Given the description of an element on the screen output the (x, y) to click on. 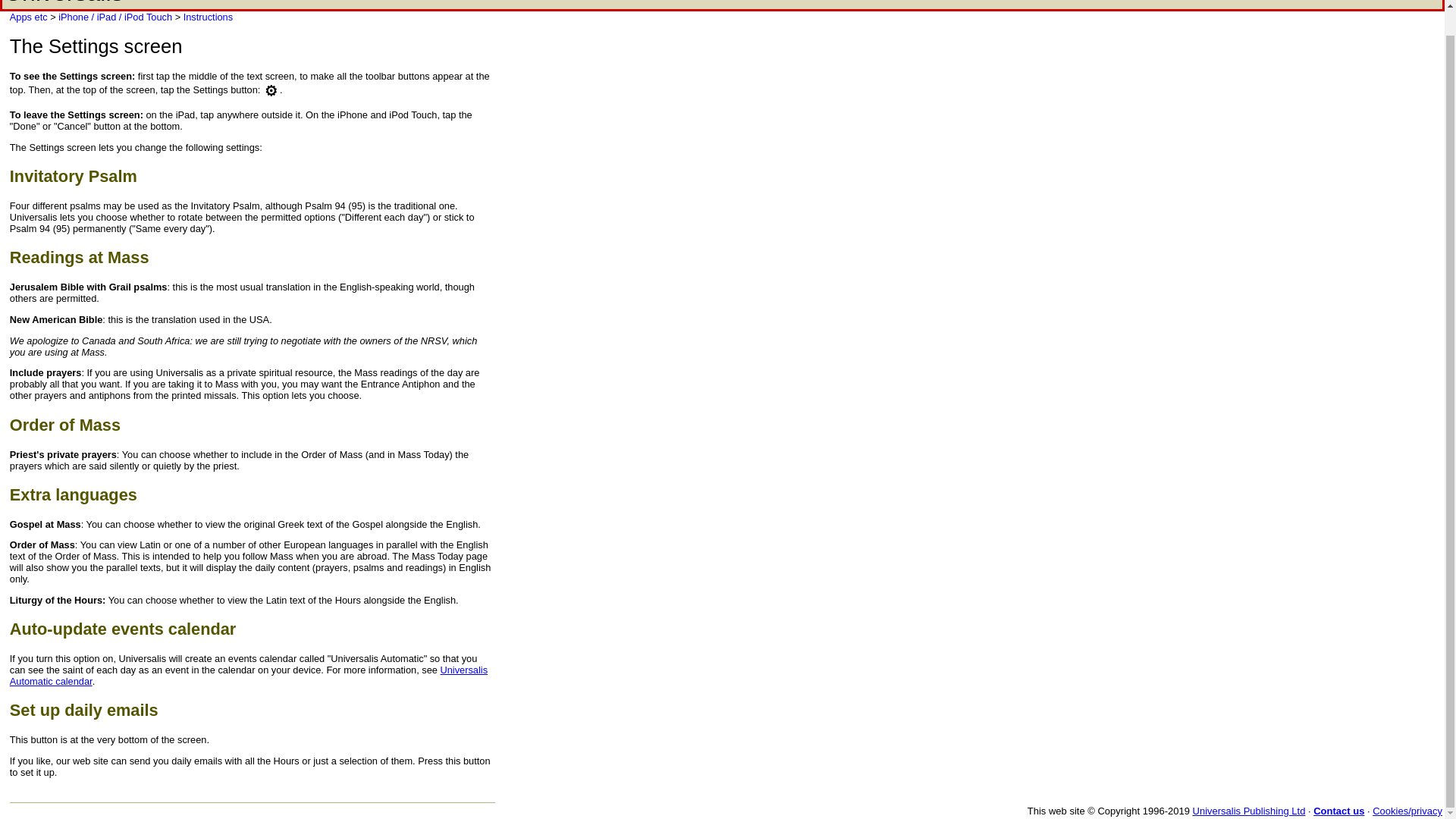
Apps etc (29, 16)
Contact us (1338, 810)
Instructions (207, 16)
Universalis Publishing Ltd (1249, 810)
Universalis Automatic calendar (248, 675)
Universalis (63, 2)
